Given the description of an element on the screen output the (x, y) to click on. 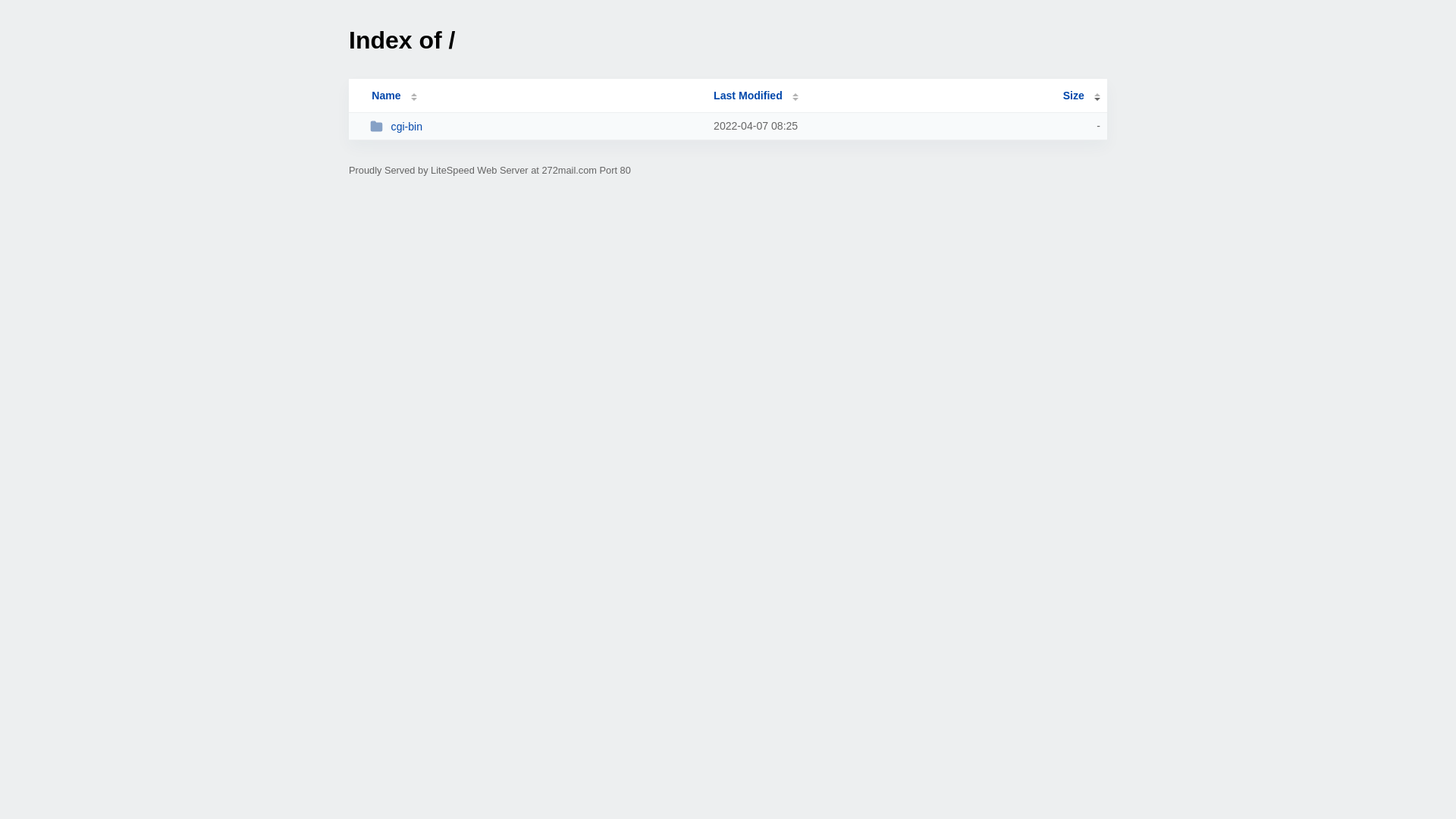
Name Element type: text (385, 95)
Size Element type: text (1081, 95)
cgi-bin Element type: text (534, 125)
Last Modified Element type: text (755, 95)
